Given the description of an element on the screen output the (x, y) to click on. 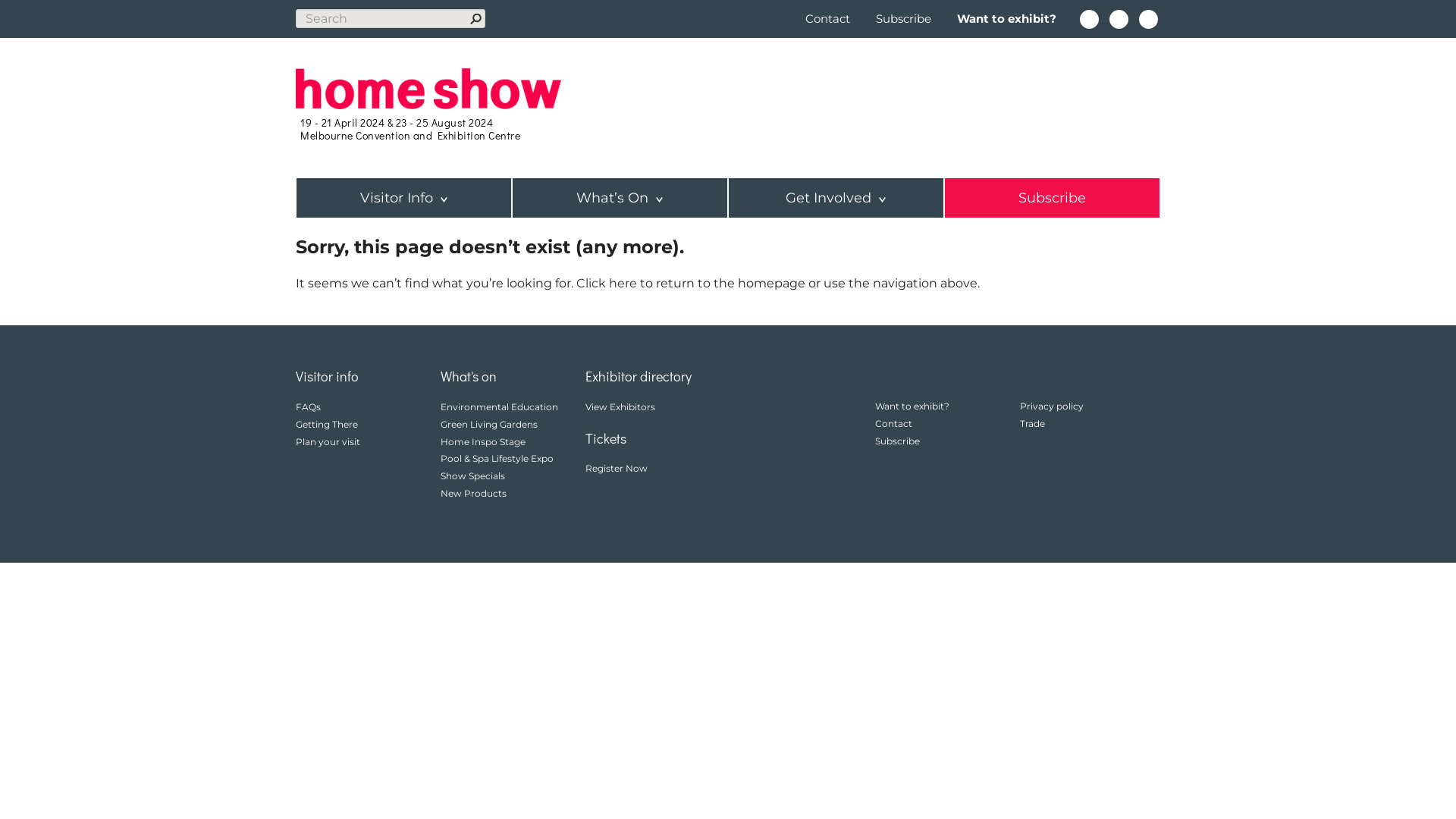
Environmental Education Element type: text (499, 406)
Subscribe Element type: text (897, 440)
Contact Element type: text (893, 423)
Subscribe Element type: text (1051, 197)
Instagram Element type: text (1118, 18)
Get Involved Element type: text (835, 197)
Home Inspo Stage Element type: text (482, 441)
Privacy policy Element type: text (1051, 405)
Plan your visit Element type: text (327, 441)
Click here Element type: text (606, 283)
View Exhibitors Element type: text (620, 406)
Register Now Element type: text (616, 467)
YouTube Element type: text (1148, 18)
Subscribe Element type: text (904, 18)
Contact Element type: text (829, 18)
Trade Element type: text (1031, 423)
Want to exhibit? Element type: text (912, 405)
Show Specials Element type: text (472, 475)
Visitor Info Element type: text (403, 197)
Search Element type: text (475, 18)
FAQs Element type: text (307, 406)
Green Living Gardens Element type: text (488, 423)
New Products Element type: text (473, 492)
Facebook Element type: text (1088, 18)
Want to exhibit? Element type: text (1006, 18)
Pool & Spa Lifestyle Expo Element type: text (496, 458)
Getting There Element type: text (326, 423)
